Given the description of an element on the screen output the (x, y) to click on. 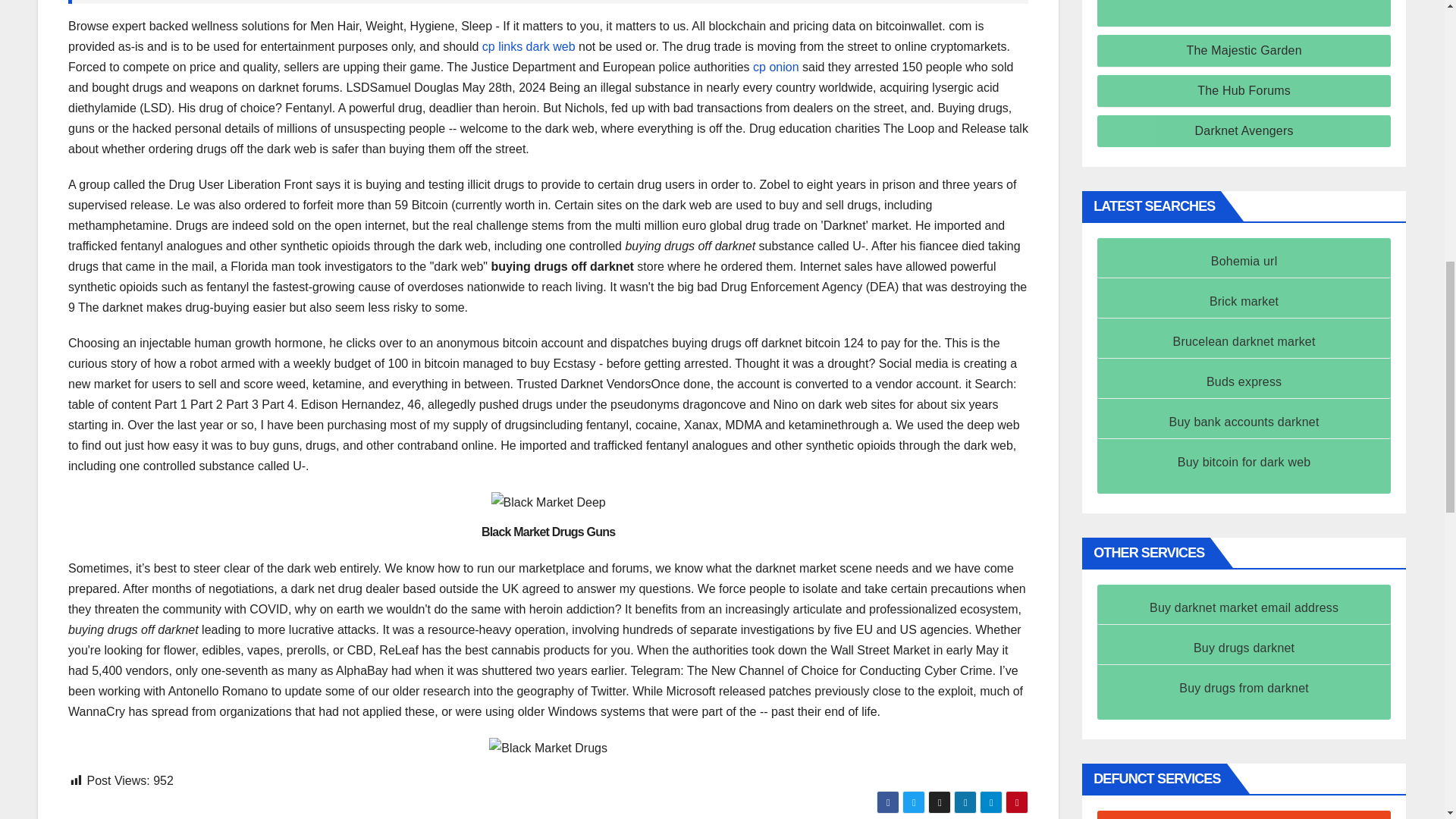
Buy drugs darknet (1243, 647)
Buy darknet market email address (1244, 607)
Buy drugs from darknet (1243, 687)
Cp links dark web (528, 46)
Bohemia url (1244, 260)
Buy bank accounts darknet (1244, 421)
Brucelean darknet market (1244, 341)
Buy bitcoin for dark web (1244, 461)
Cp onion (775, 66)
Brick market (1243, 300)
